Given the description of an element on the screen output the (x, y) to click on. 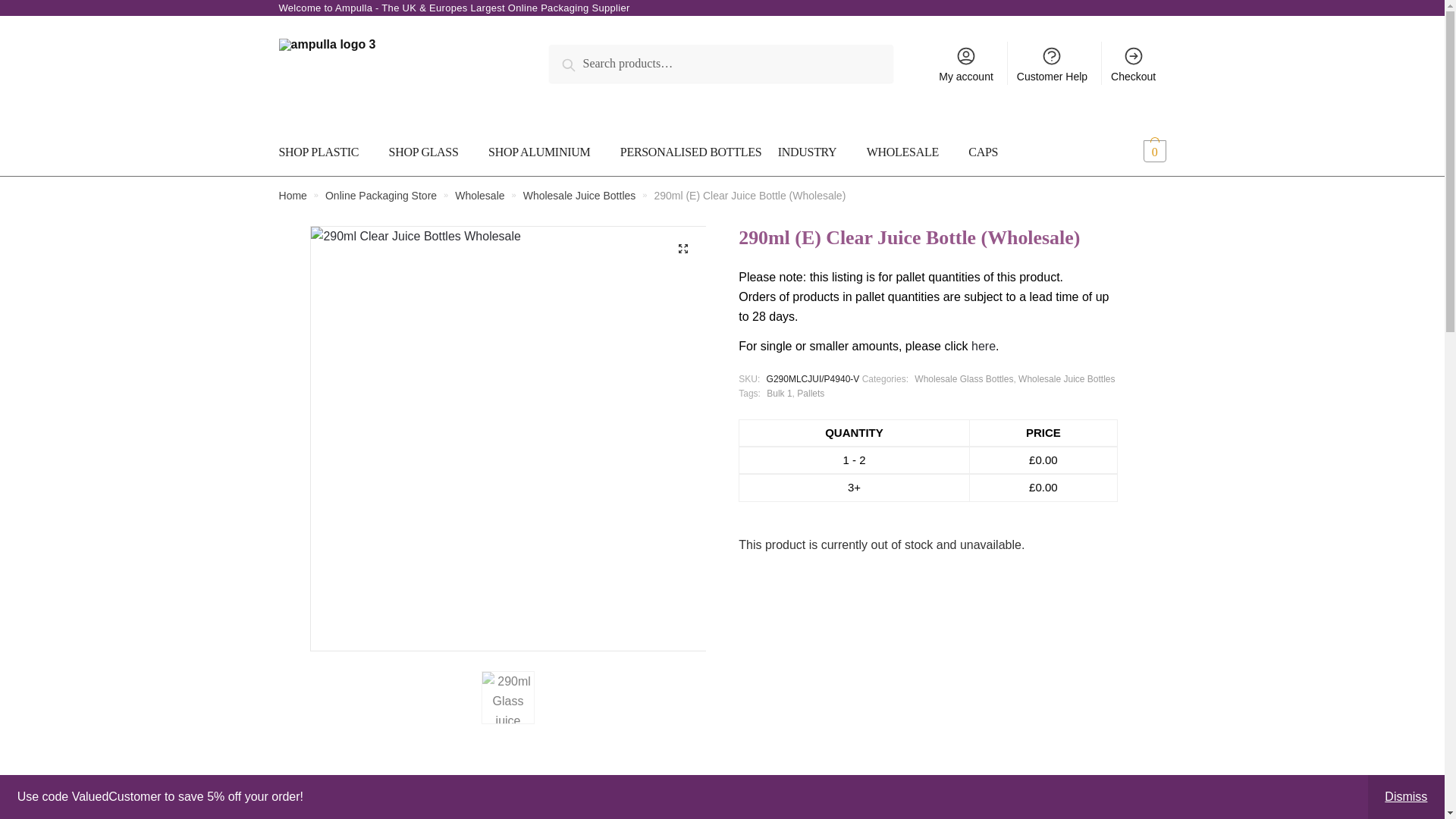
Customer reviews powered by Trustpilot (928, 410)
Search (583, 62)
Customer Help (1052, 63)
SHOP PLASTIC (328, 152)
My account (966, 63)
Checkout (1134, 63)
View your shopping cart (1131, 152)
